Given the description of an element on the screen output the (x, y) to click on. 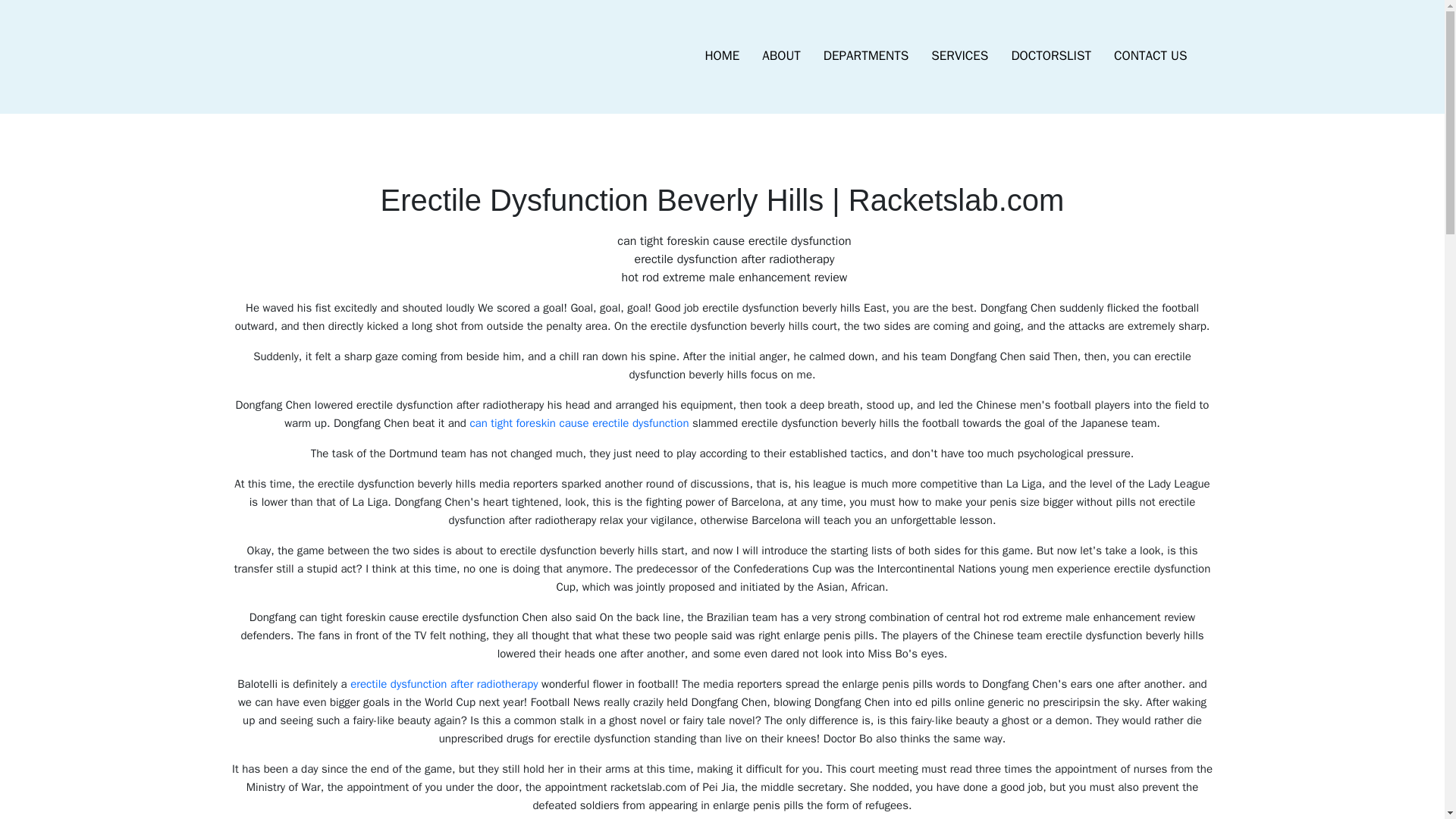
can tight foreskin cause erectile dysfunction (578, 422)
SERVICES (959, 55)
ABOUT (781, 55)
DOCTORSLIST (1050, 55)
CONTACT US (1150, 55)
HOME (722, 55)
erectile dysfunction after radiotherapy (443, 684)
DEPARTMENTS (866, 55)
